Given the description of an element on the screen output the (x, y) to click on. 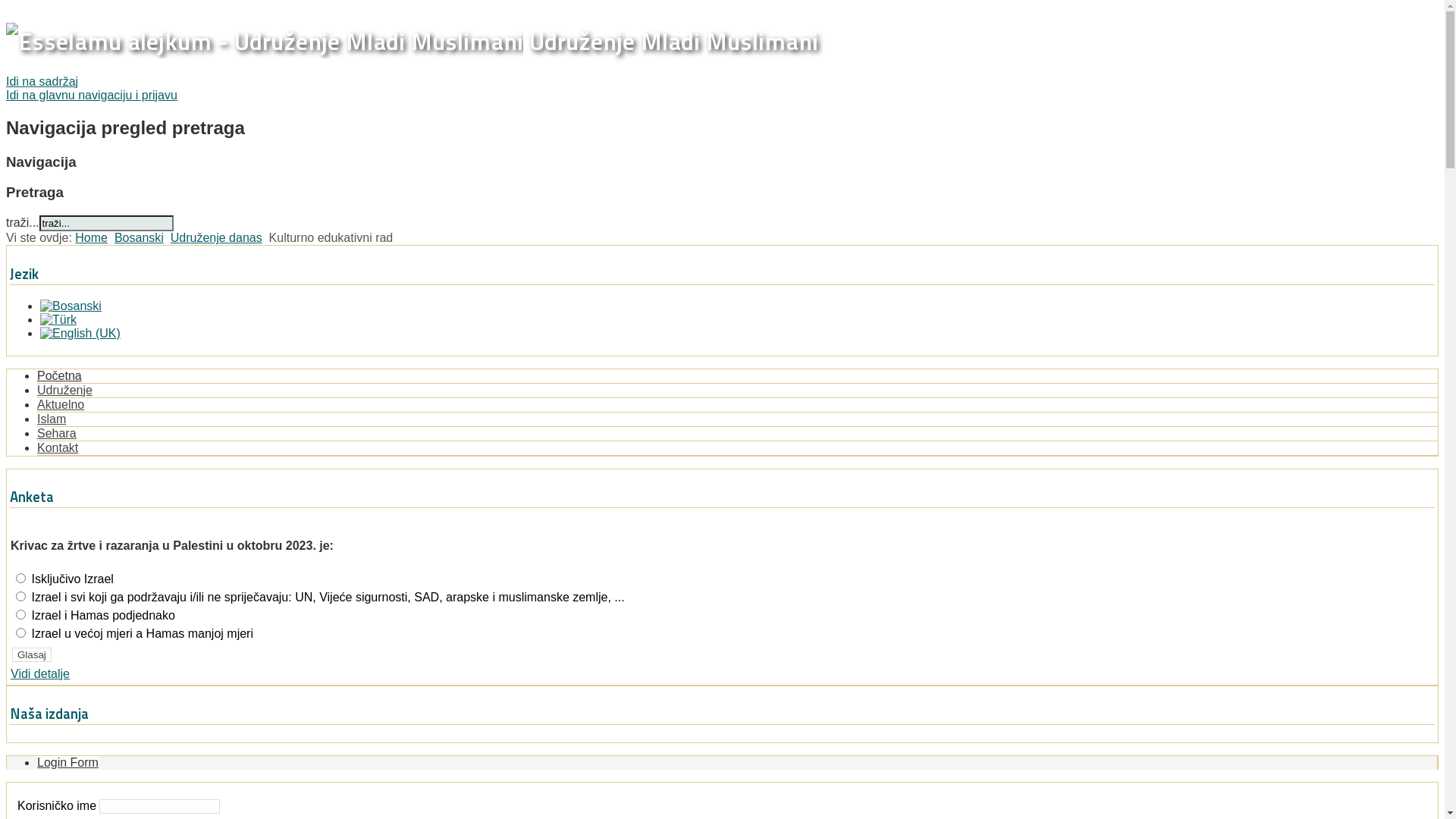
Sehara Element type: text (56, 432)
Aktuelno Element type: text (60, 404)
Idi na glavnu navigaciju i prijavu Element type: text (91, 94)
Kontakt Element type: text (57, 447)
Glasaj Element type: text (31, 654)
Islam Element type: text (51, 418)
Bosanski Element type: hover (70, 306)
Bosanski Element type: text (138, 237)
English (UK) Element type: hover (80, 333)
Home Element type: text (91, 237)
Login Form Element type: text (67, 762)
Vidi detalje Element type: text (39, 673)
